Given the description of an element on the screen output the (x, y) to click on. 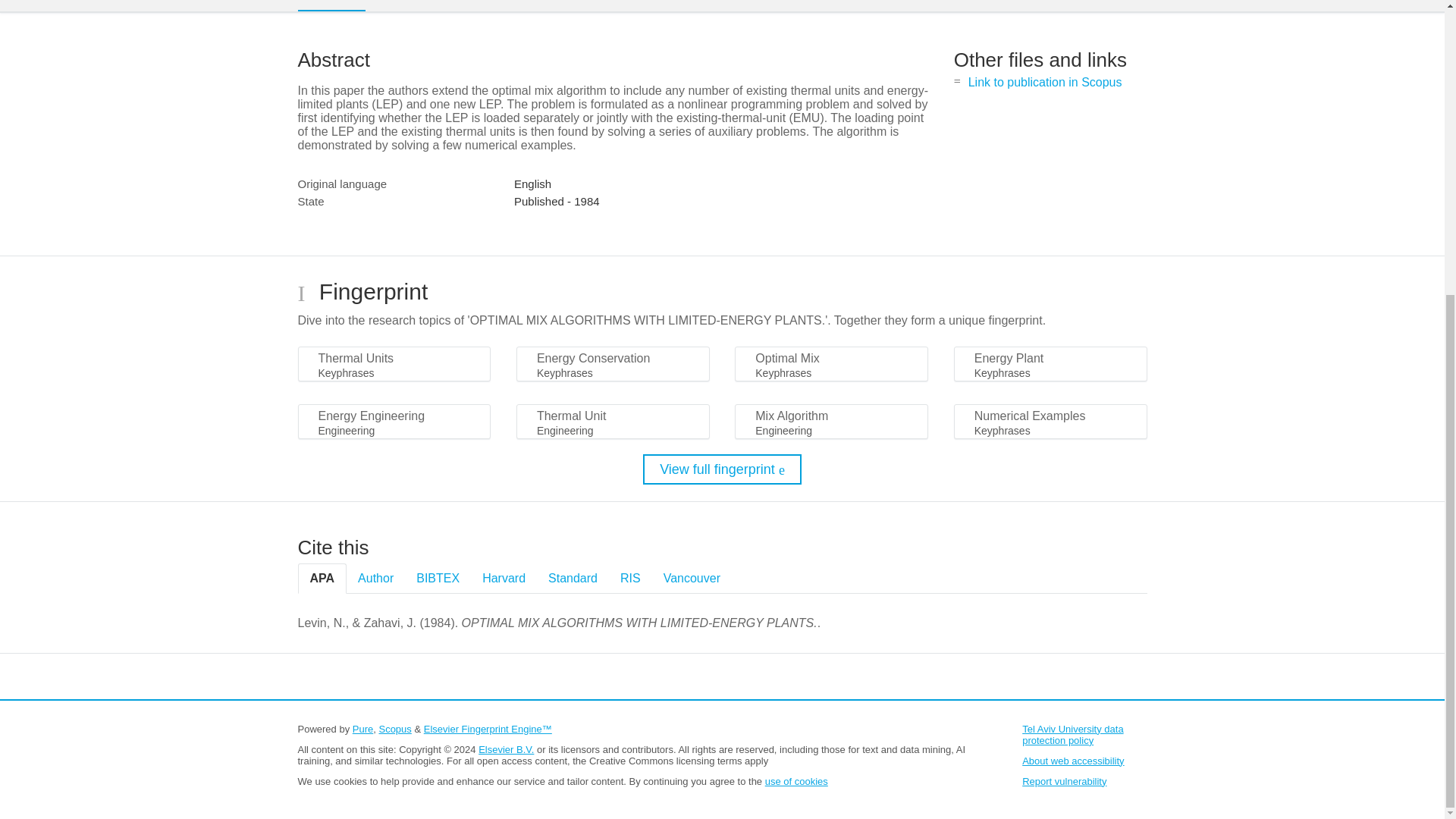
use of cookies (796, 781)
Report vulnerability (1064, 781)
About web accessibility (1073, 760)
Elsevier B.V. (506, 749)
Pure (362, 728)
Link to publication in Scopus (1045, 82)
Overview (331, 5)
Fingerprint (419, 4)
Tel Aviv University data protection policy (1072, 734)
Scopus (394, 728)
View full fingerprint (722, 469)
